Given the description of an element on the screen output the (x, y) to click on. 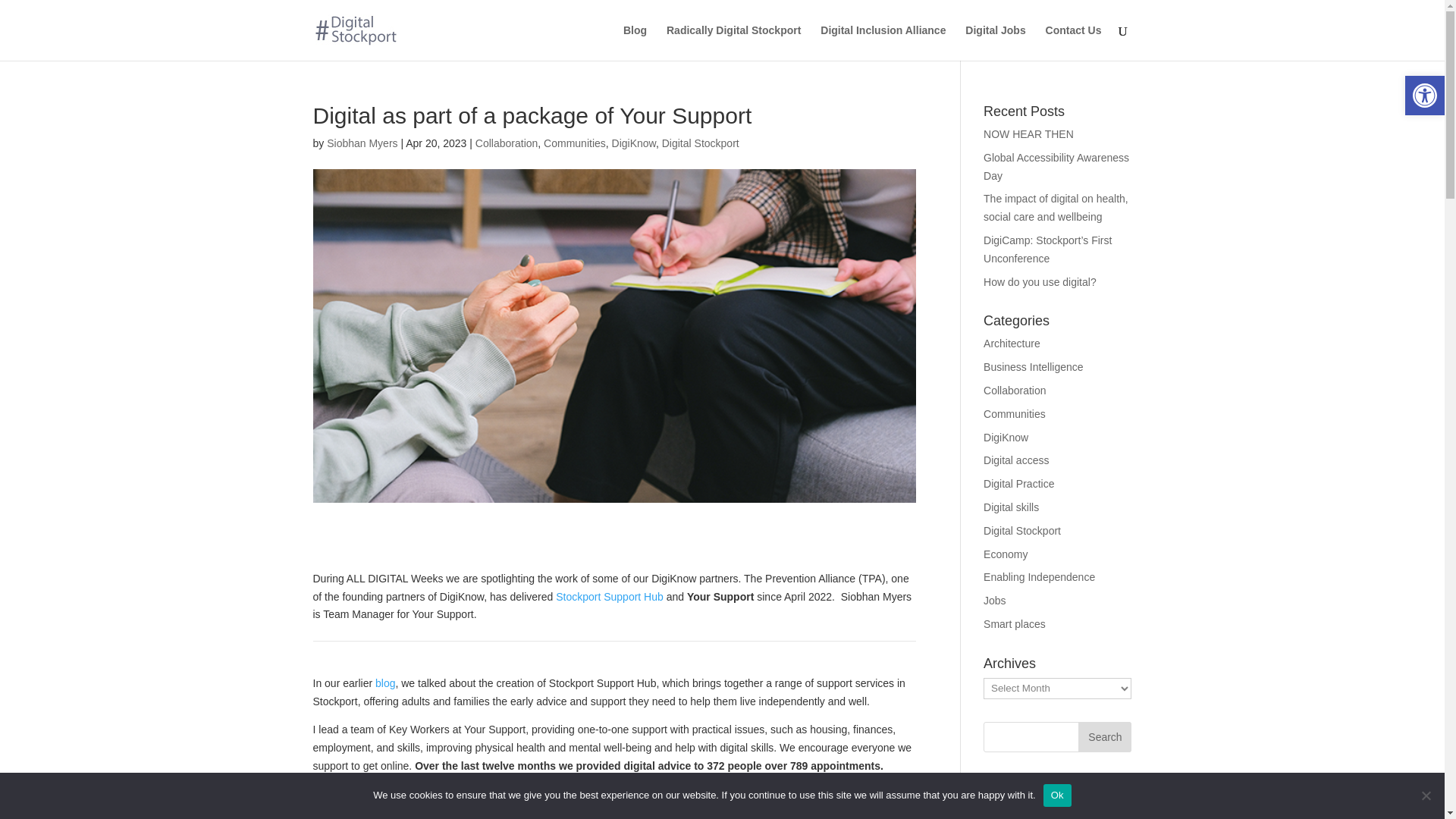
Stockport Support Hub (609, 596)
No (1425, 795)
Contact Us (1073, 42)
Collaboration (507, 143)
Radically Digital Stockport (733, 42)
Digital Stockport (700, 143)
Posts by Siobhan Myers (361, 143)
Collaborations with others (1015, 390)
DigiKnow (633, 143)
blog (384, 683)
Search (1104, 736)
Using digital to help connect communities (1014, 413)
Digital Jobs (995, 42)
Digital Inclusion Alliance (882, 42)
Communities (574, 143)
